Given the description of an element on the screen output the (x, y) to click on. 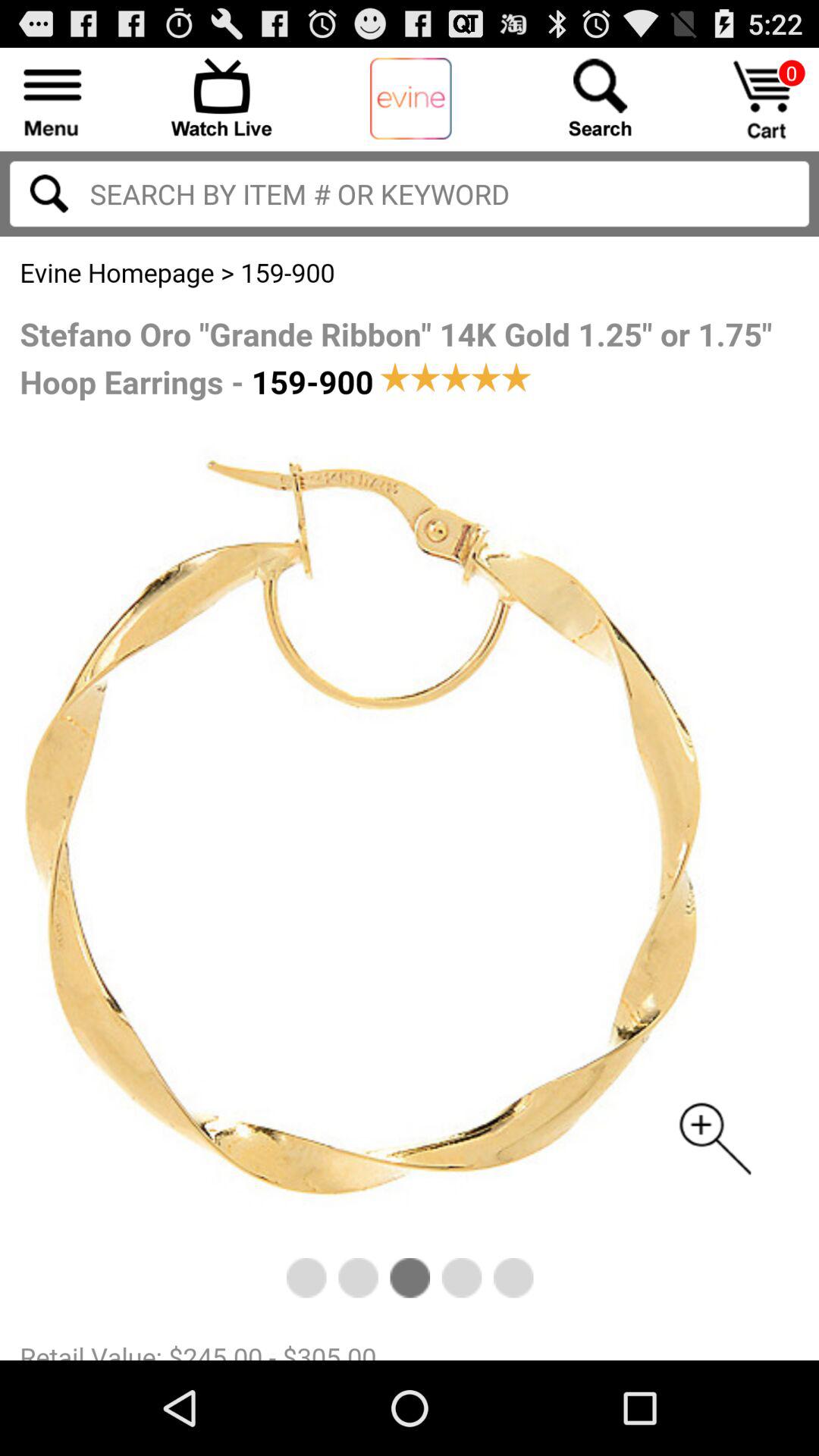
search bar (409, 193)
